Given the description of an element on the screen output the (x, y) to click on. 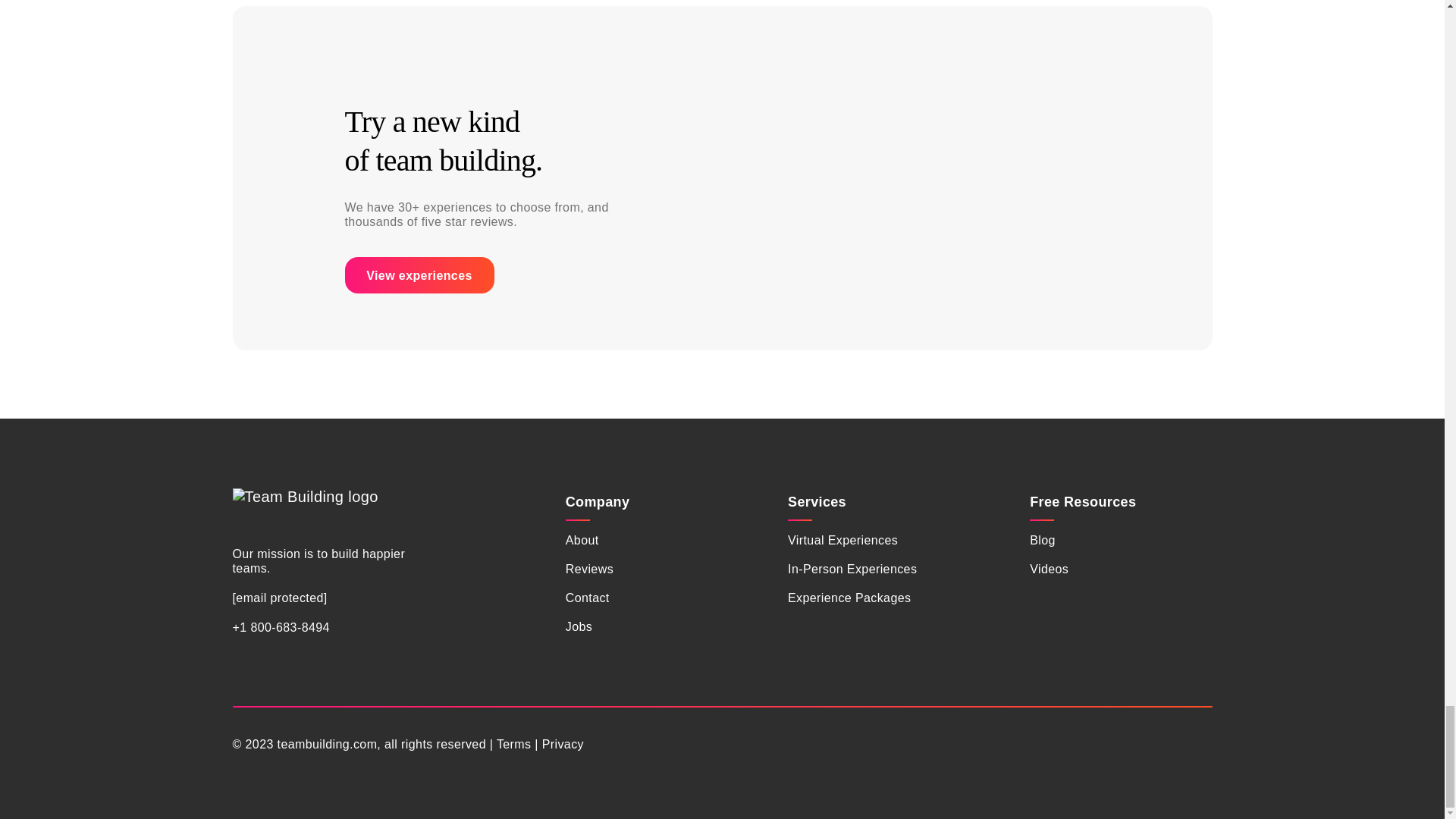
About (582, 540)
In-Person Experiences (852, 568)
Experience Packages (849, 597)
Jobs (579, 626)
View experiences (418, 275)
Reviews (589, 568)
Contact (588, 597)
Virtual Experiences (842, 540)
